Given the description of an element on the screen output the (x, y) to click on. 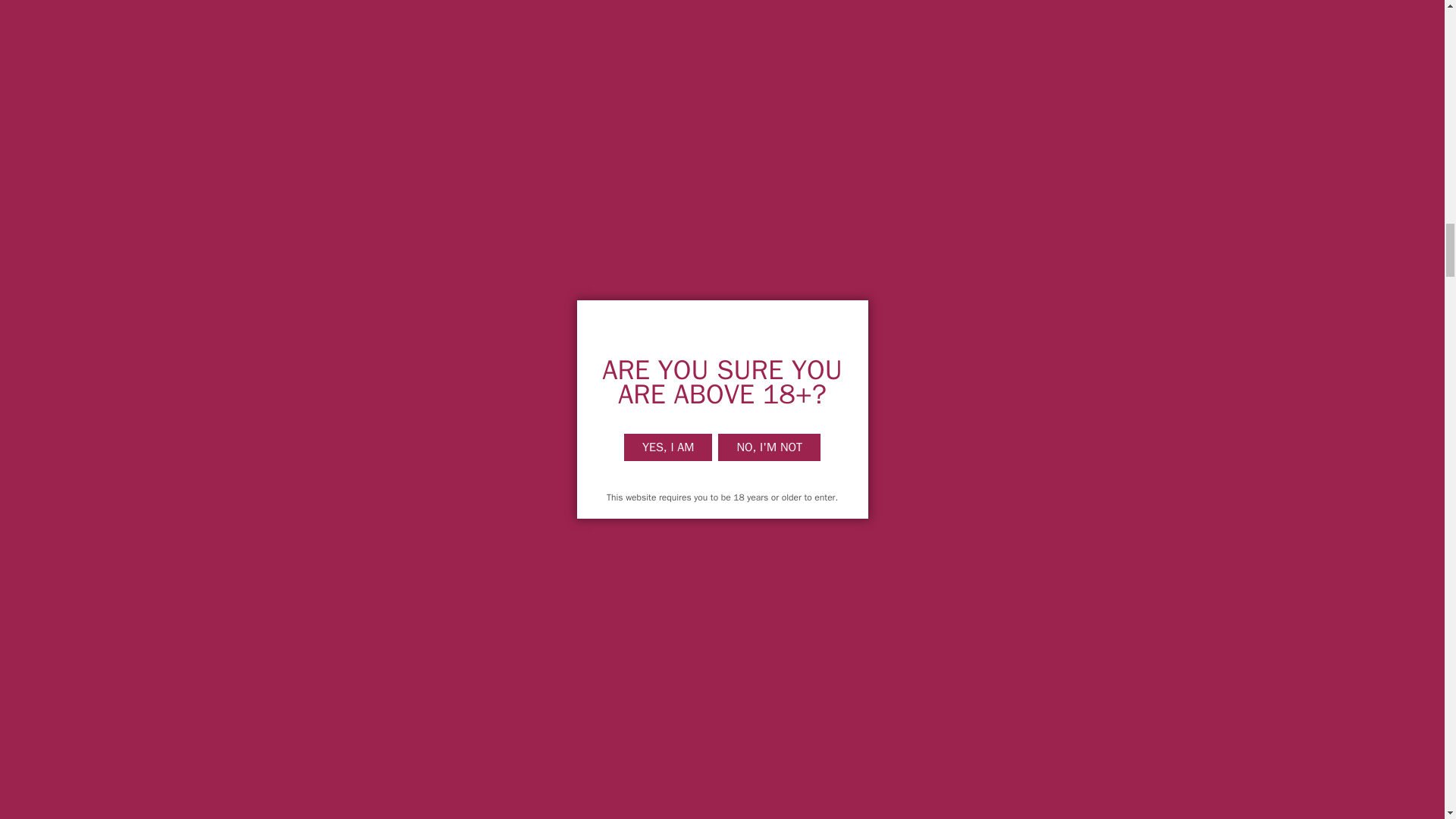
3rd party ad content (577, 216)
